Given the description of an element on the screen output the (x, y) to click on. 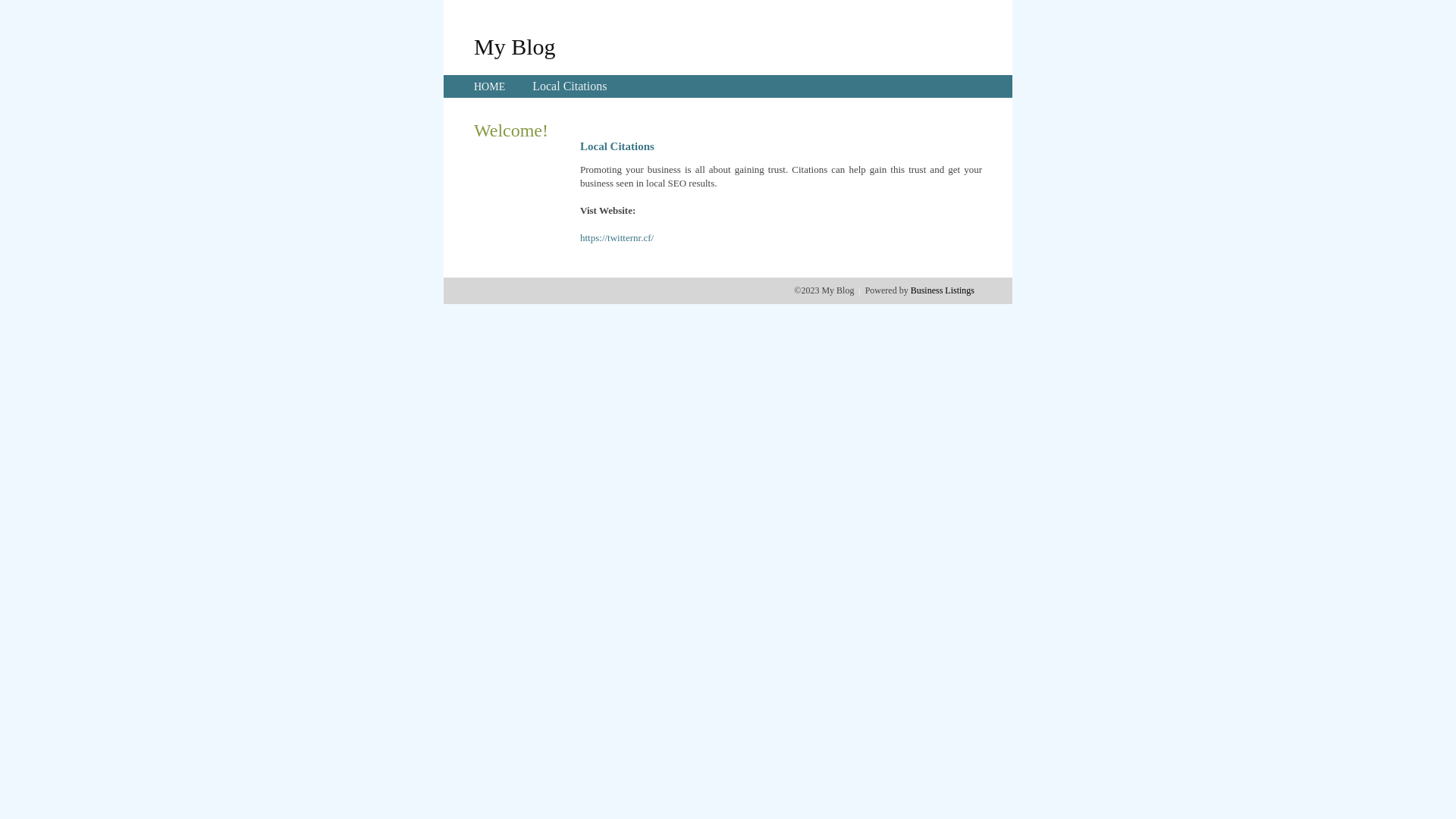
Local Citations Element type: text (569, 85)
My Blog Element type: text (514, 46)
HOME Element type: text (489, 86)
Business Listings Element type: text (942, 290)
https://twitternr.cf/ Element type: text (616, 237)
